Given the description of an element on the screen output the (x, y) to click on. 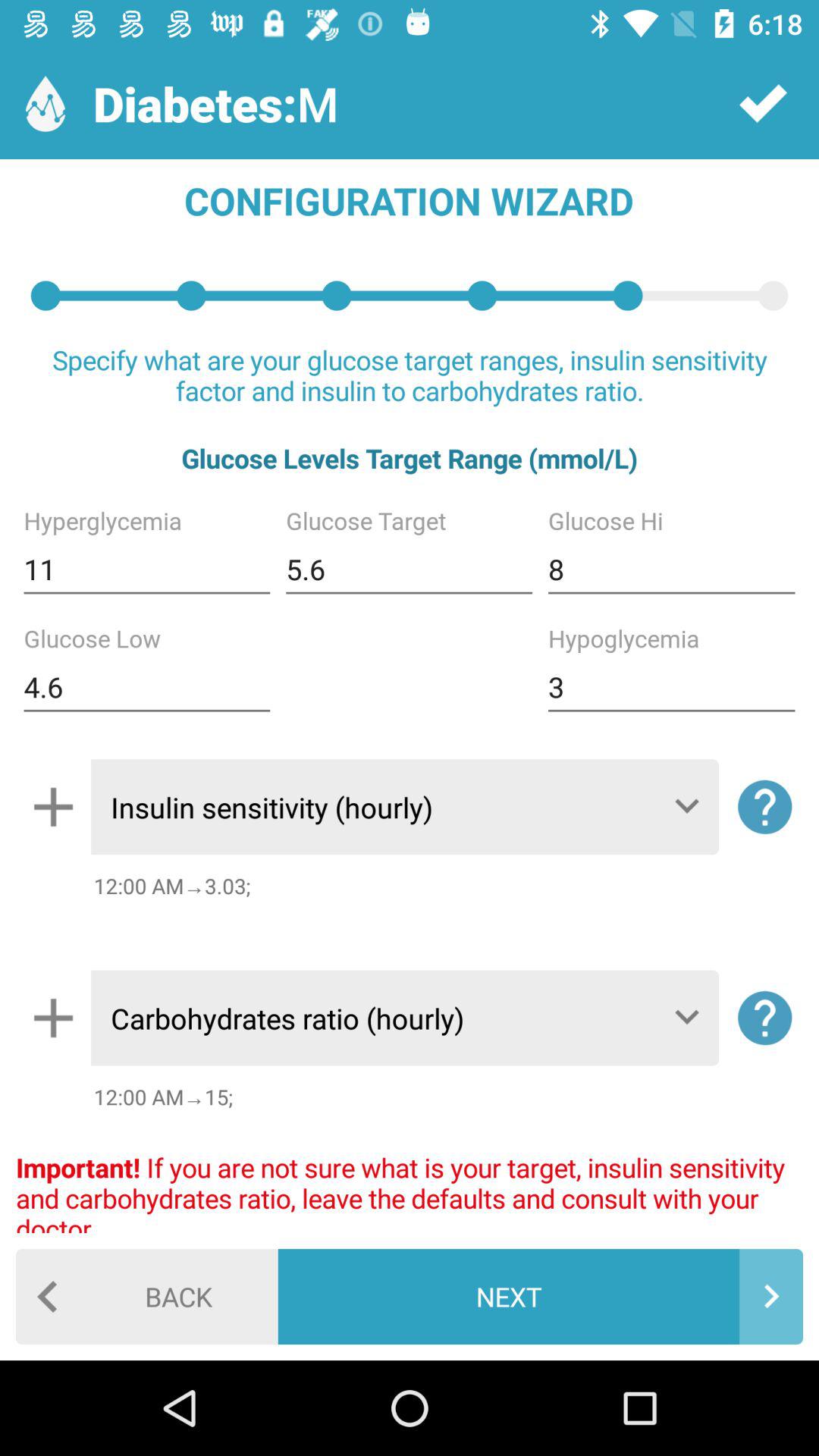
turn off icon below the important if you item (540, 1296)
